Given the description of an element on the screen output the (x, y) to click on. 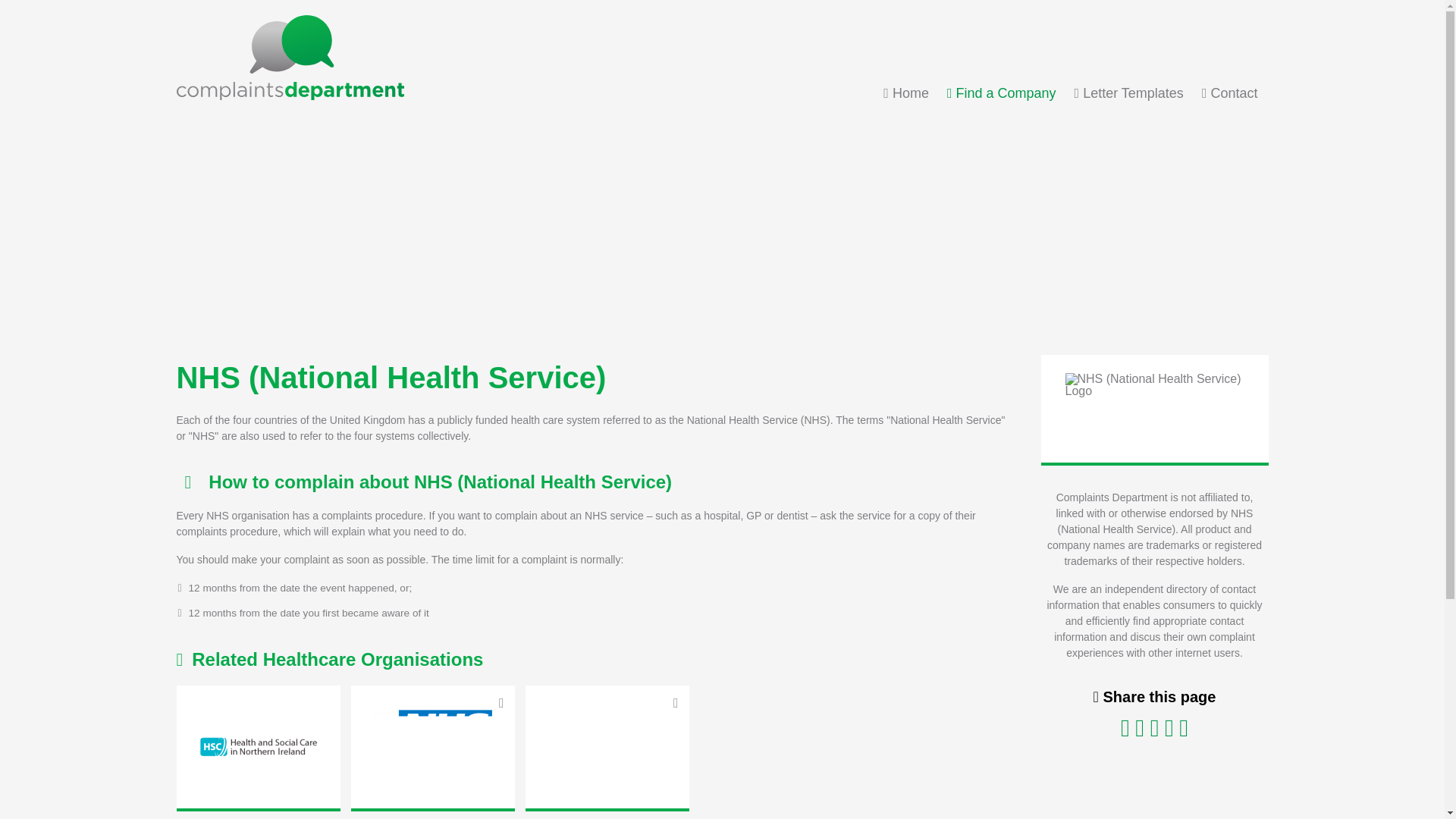
Home (905, 92)
NHS England Complaints (432, 746)
Letter Templates (1128, 92)
Find a Company (1002, 92)
Contact (1229, 92)
NHS Scotland Complaints (606, 746)
